Given the description of an element on the screen output the (x, y) to click on. 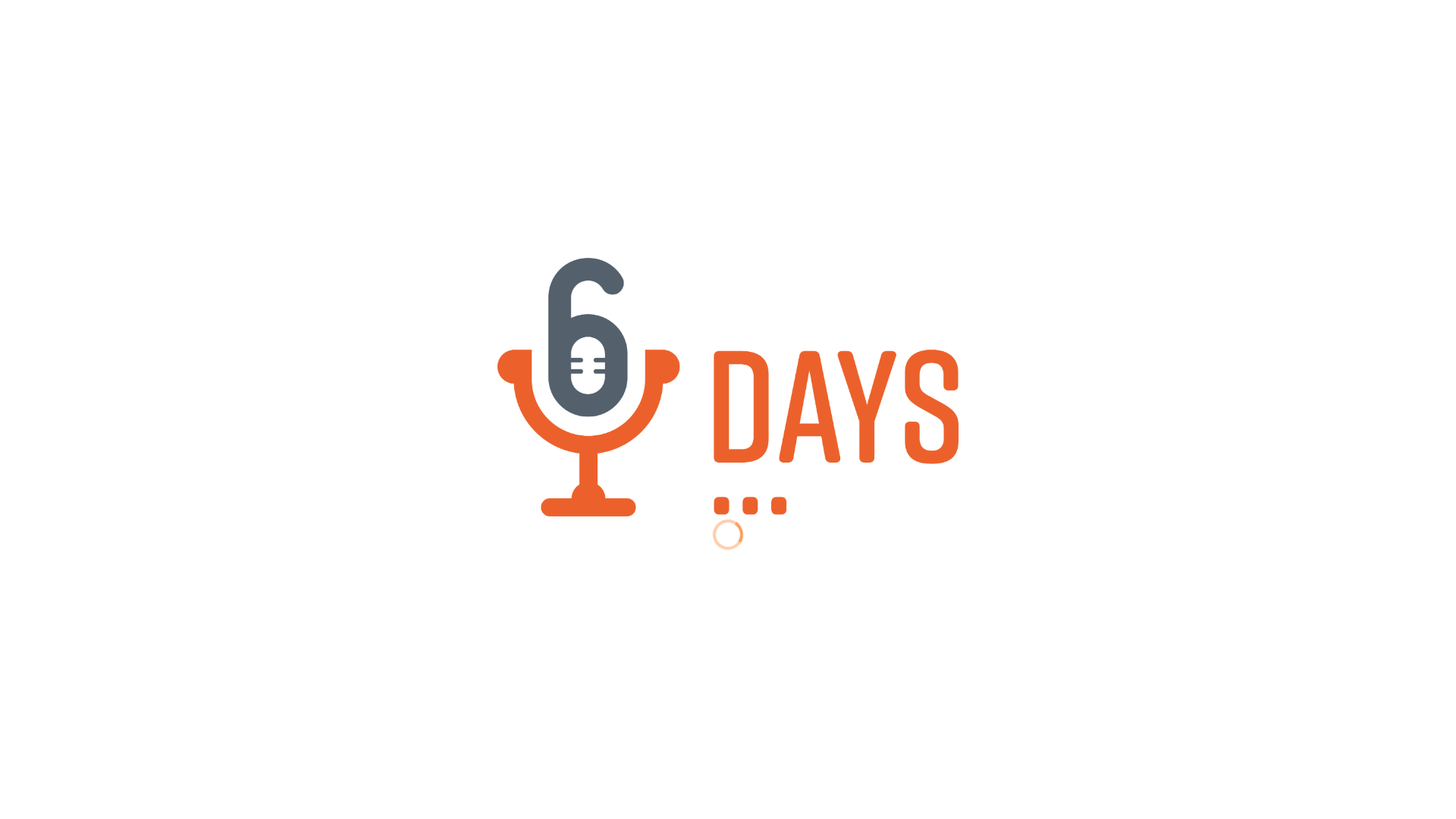
Accueil Element type: text (1300, 22)
Devenir partenaire Element type: text (1386, 22)
